Given the description of an element on the screen output the (x, y) to click on. 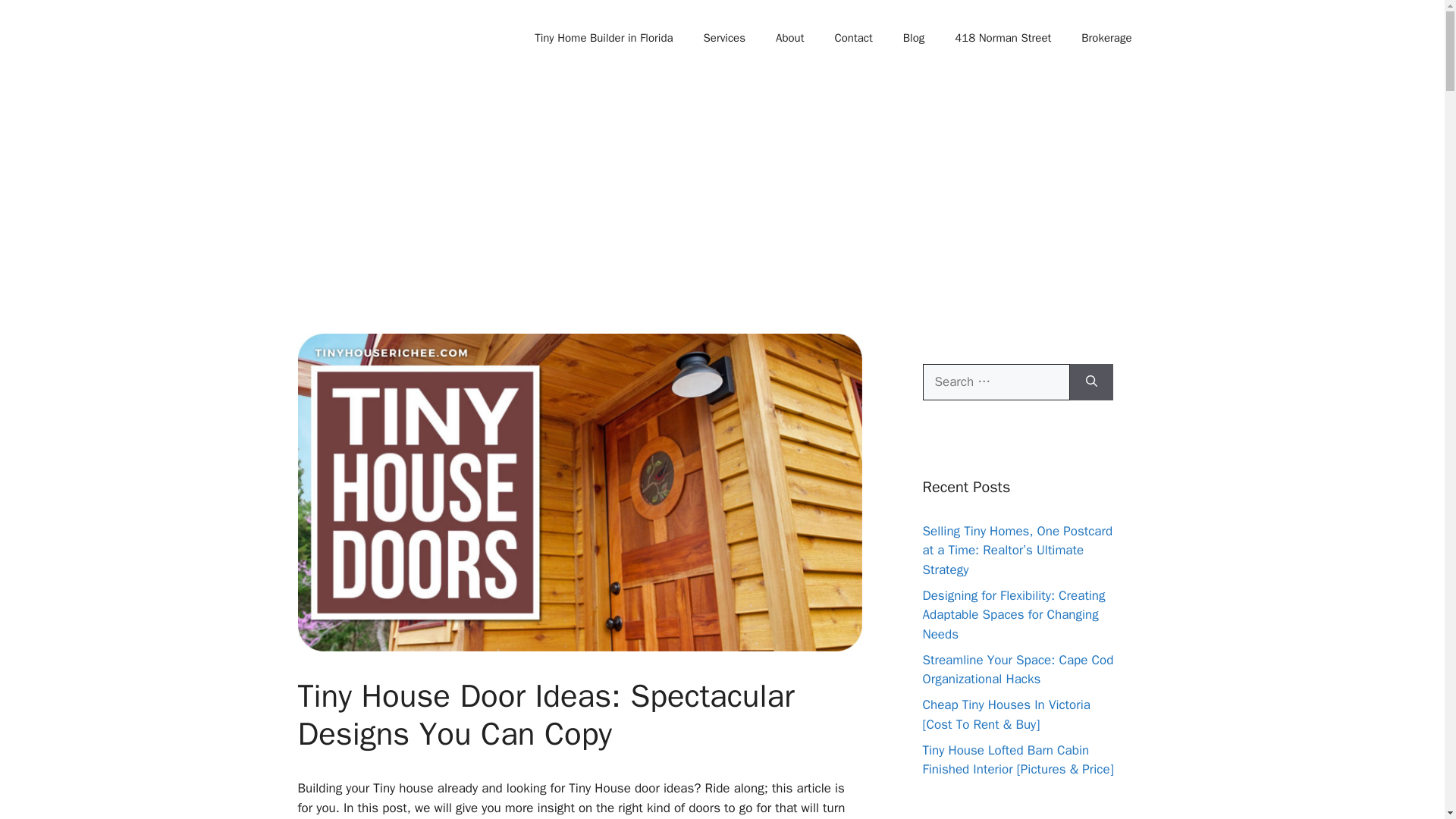
Search for: (994, 381)
Services (724, 37)
Blog (913, 37)
Contact (852, 37)
About (789, 37)
Brokerage (1106, 37)
418 Norman Street (1002, 37)
Tiny Home Builder in Florida (603, 37)
